Given the description of an element on the screen output the (x, y) to click on. 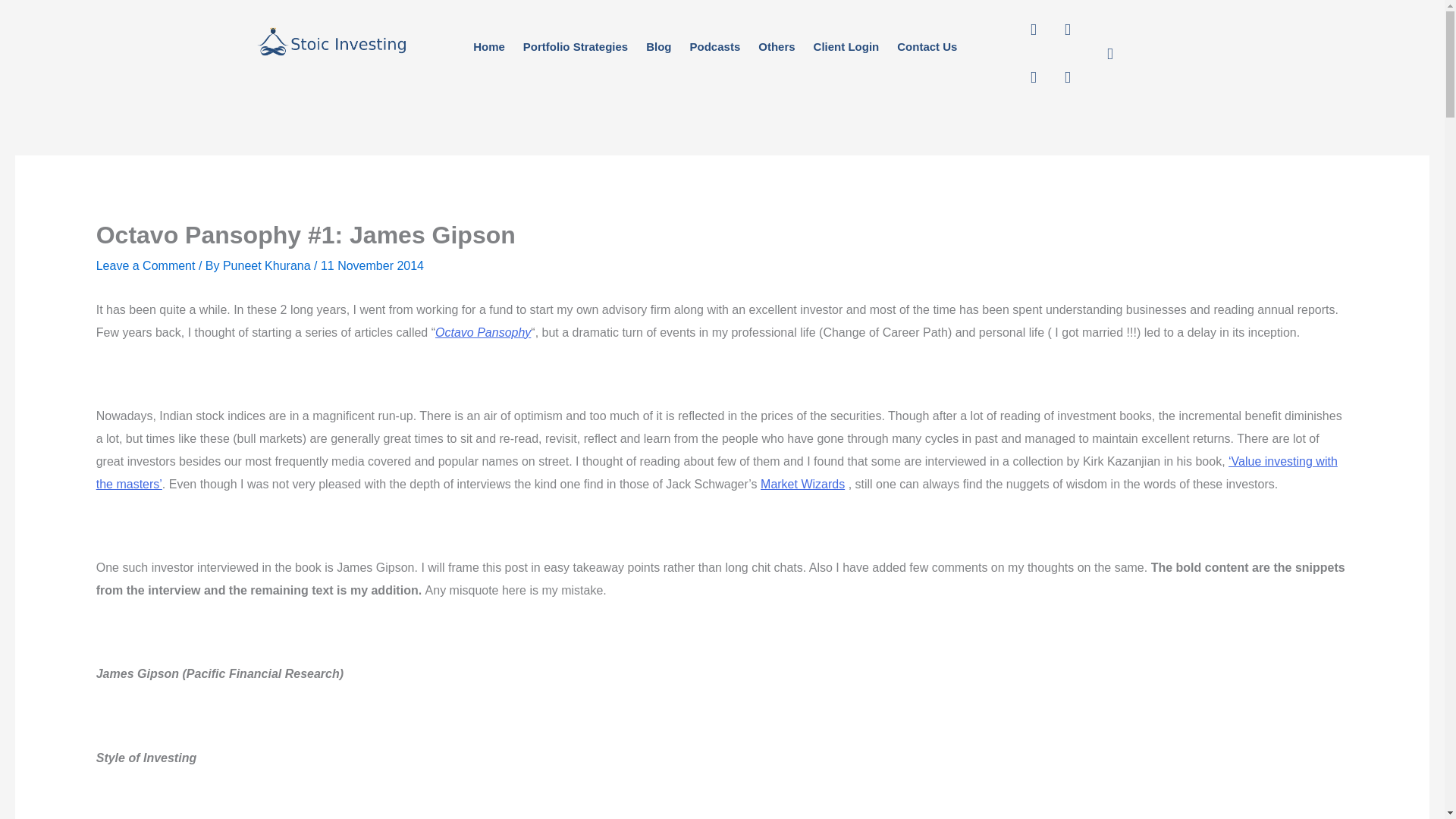
Contact Us (927, 46)
View all posts by Puneet Khurana (268, 265)
Octavo Pansophy (483, 332)
Client Login (846, 46)
Market Wizards (802, 483)
Portfolio Strategies (575, 46)
Leave a Comment (145, 265)
Podcasts (715, 46)
Puneet Khurana (268, 265)
